Given the description of an element on the screen output the (x, y) to click on. 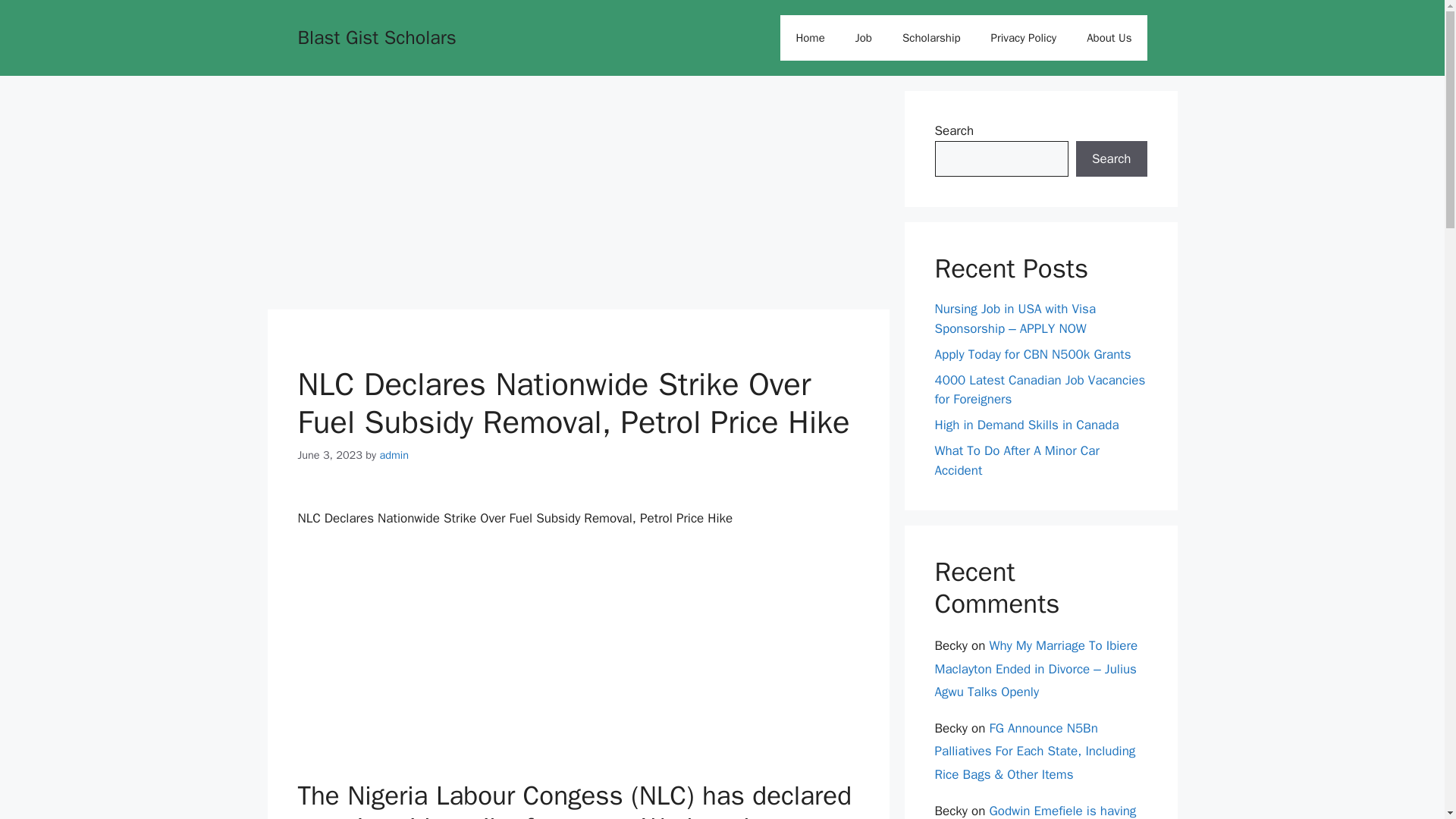
What To Do After A Minor Car Accident (1016, 460)
Job (863, 37)
Privacy Policy (1023, 37)
admin (393, 454)
4000 Latest Canadian Job Vacancies for Foreigners (1039, 389)
Home (810, 37)
High in Demand Skills in Canada (1026, 424)
Advertisement (577, 196)
View all posts by admin (393, 454)
About Us (1109, 37)
